Given the description of an element on the screen output the (x, y) to click on. 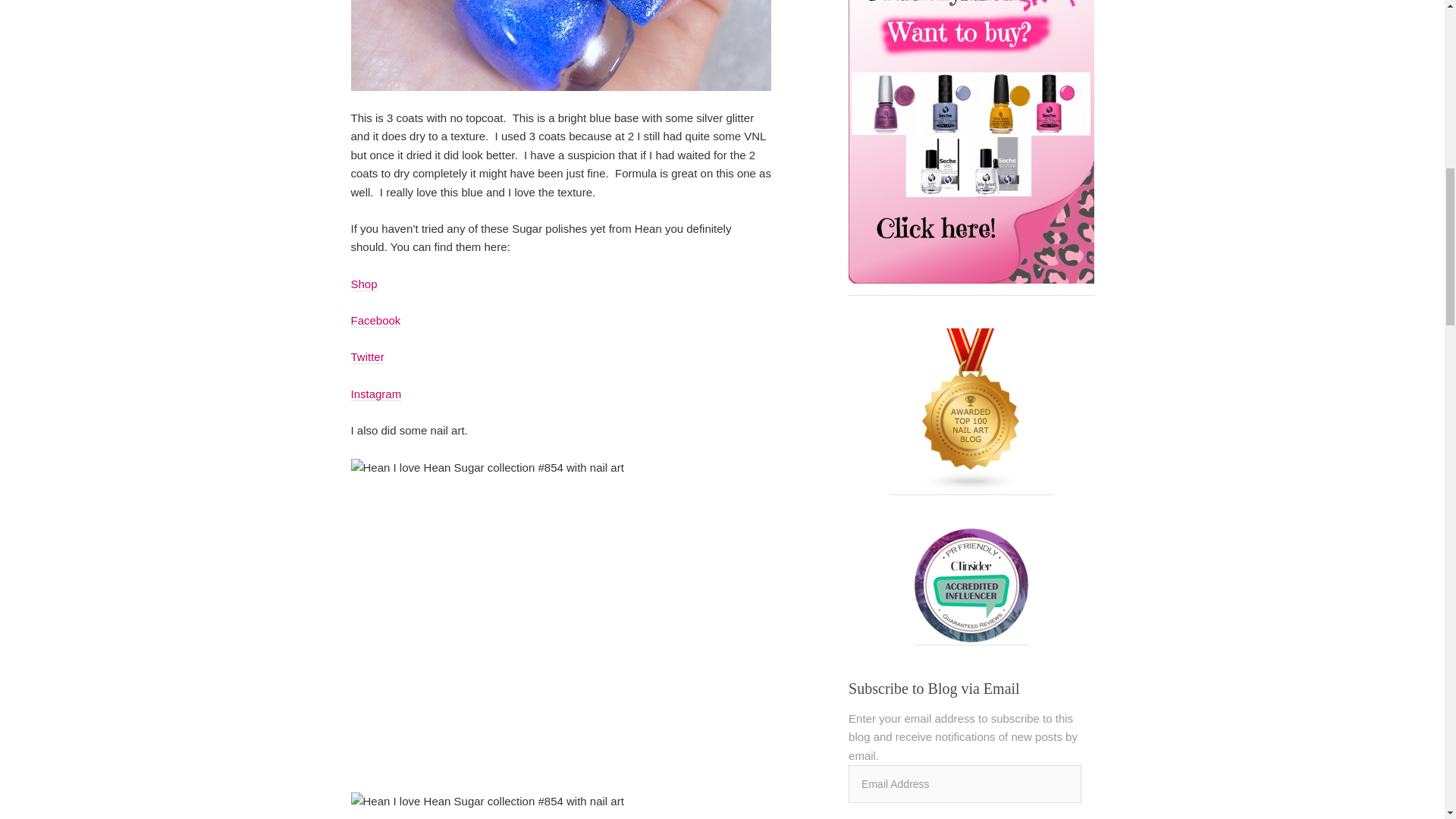
Glamore cosmetics Facebook (375, 320)
Glamore cosmetics Instagram (375, 394)
Glamore cosmetics twitter (367, 356)
Glamore Cosmetics shop (363, 284)
